Given the description of an element on the screen output the (x, y) to click on. 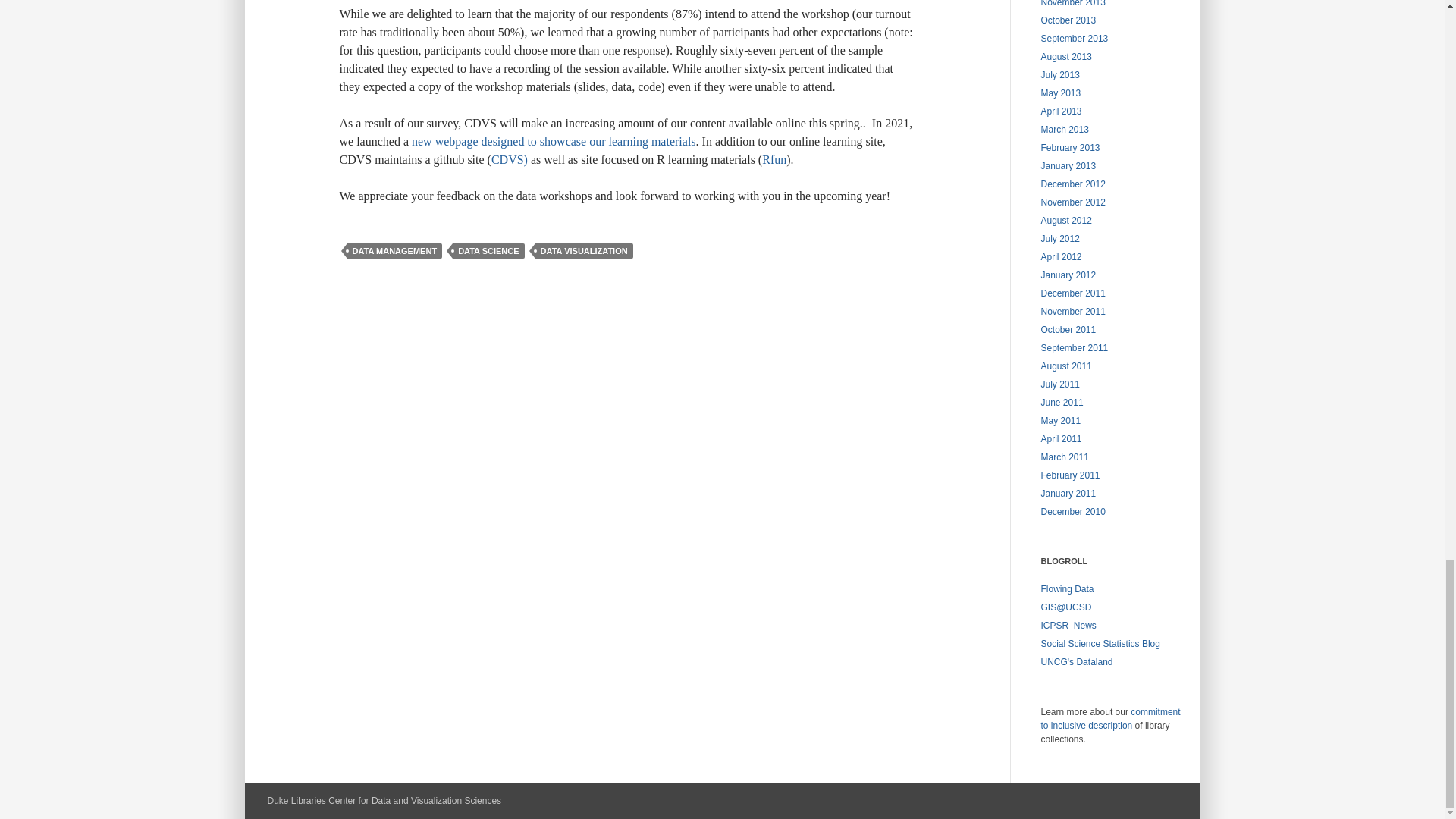
DATA SCIENCE (488, 250)
Data Visualization (1067, 588)
Rfun (773, 159)
DATA VISUALIZATION (584, 250)
new webpage designed to showcase our learning materials (553, 141)
DATA MANAGEMENT (394, 250)
